Given the description of an element on the screen output the (x, y) to click on. 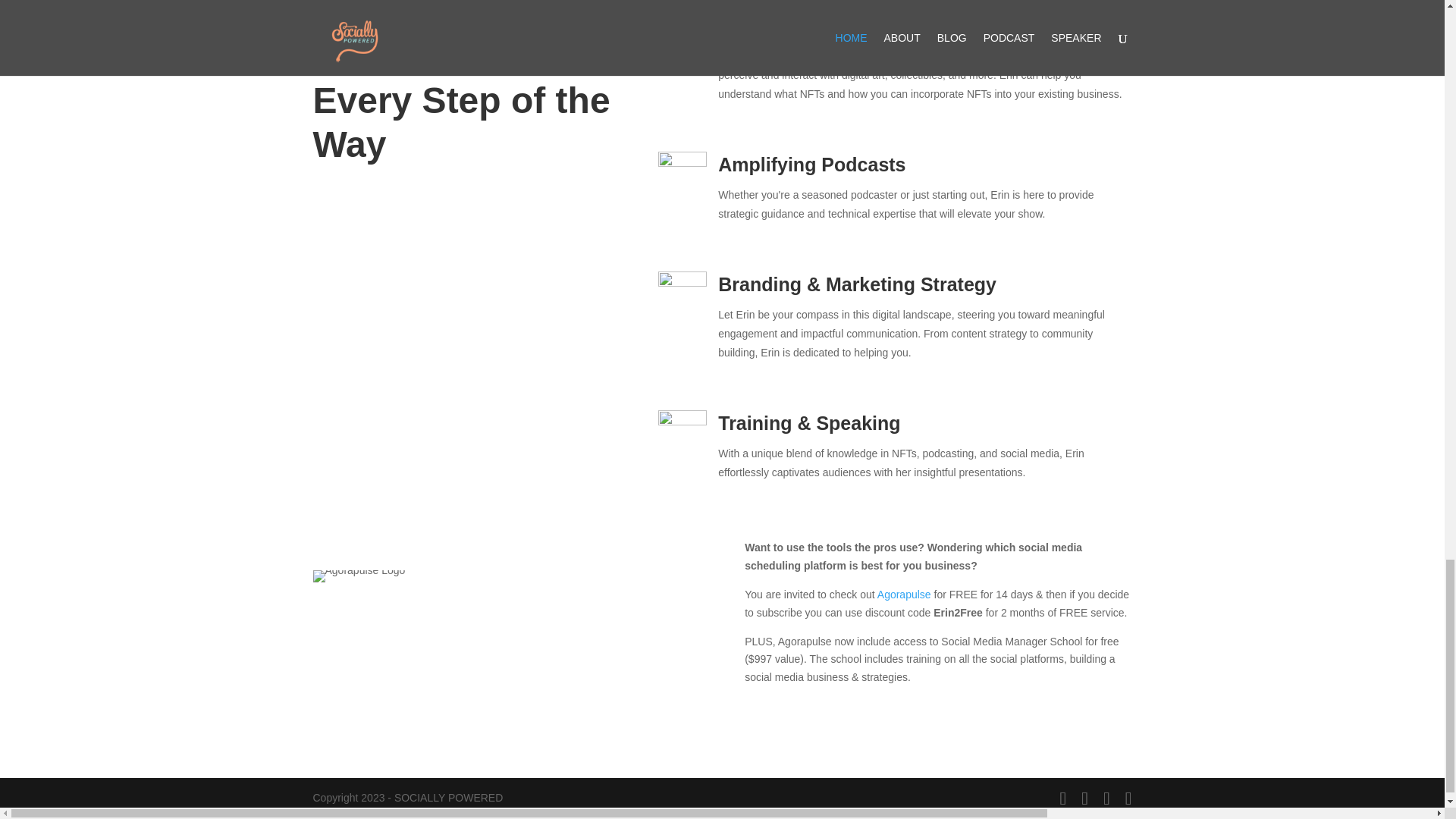
Agorapulse (904, 594)
Agorapulse logo (358, 576)
